Given the description of an element on the screen output the (x, y) to click on. 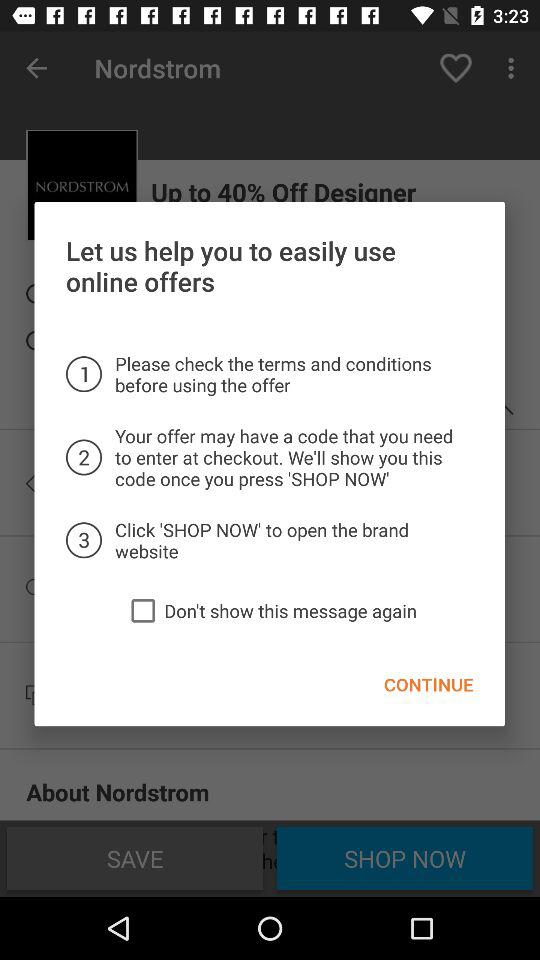
choose the icon to the left of the don t show icon (143, 610)
